Given the description of an element on the screen output the (x, y) to click on. 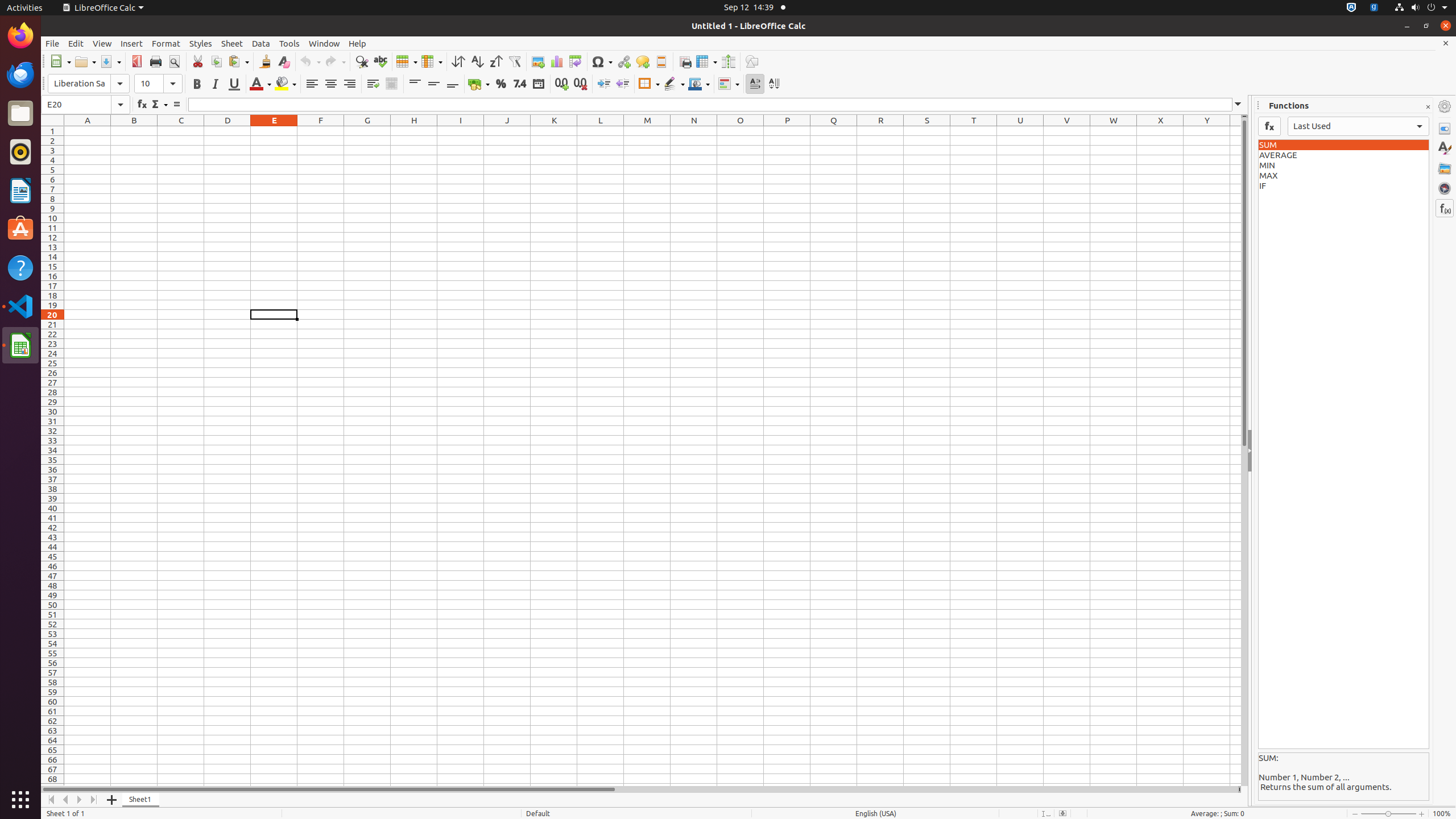
Redo Element type: push-button (334, 61)
Find & Replace Element type: toggle-button (361, 61)
Align Right Element type: push-button (349, 83)
File Element type: menu (51, 43)
Spelling Element type: push-button (379, 61)
